Given the description of an element on the screen output the (x, y) to click on. 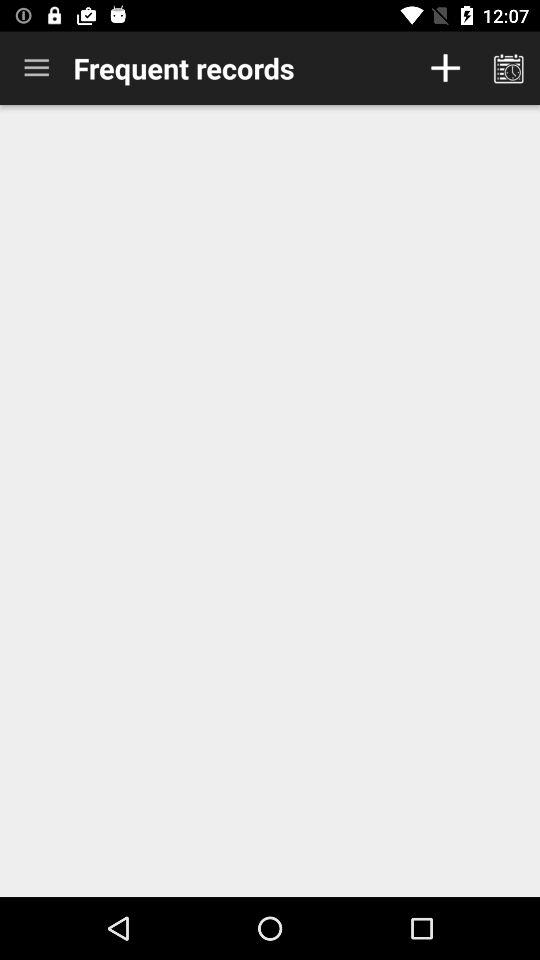
review the reports history (508, 67)
